Given the description of an element on the screen output the (x, y) to click on. 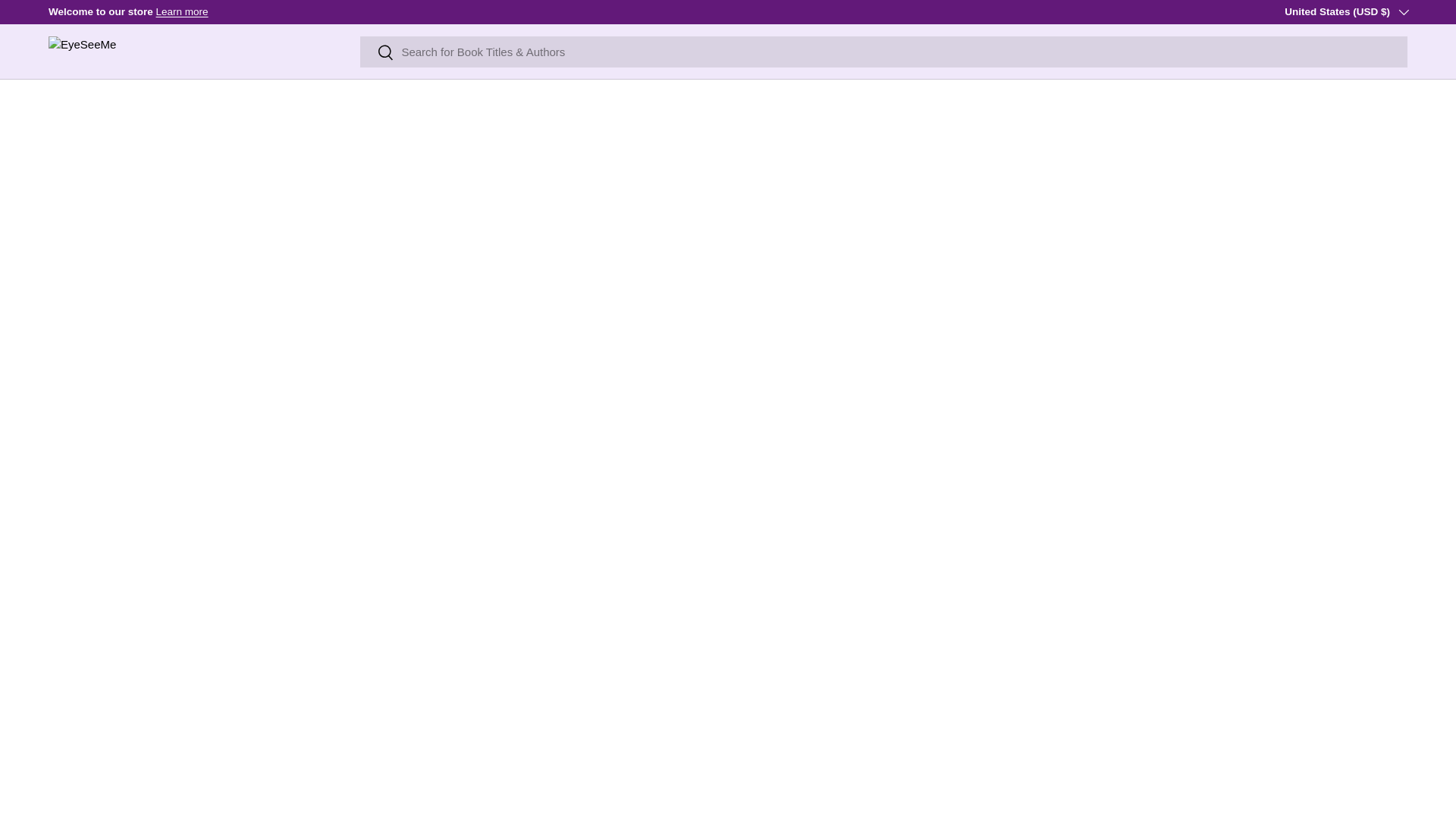
Learn more (181, 11)
About Us (181, 11)
SKIP TO CONTENT (68, 21)
Search (376, 53)
Learn more (1417, 11)
